Given the description of an element on the screen output the (x, y) to click on. 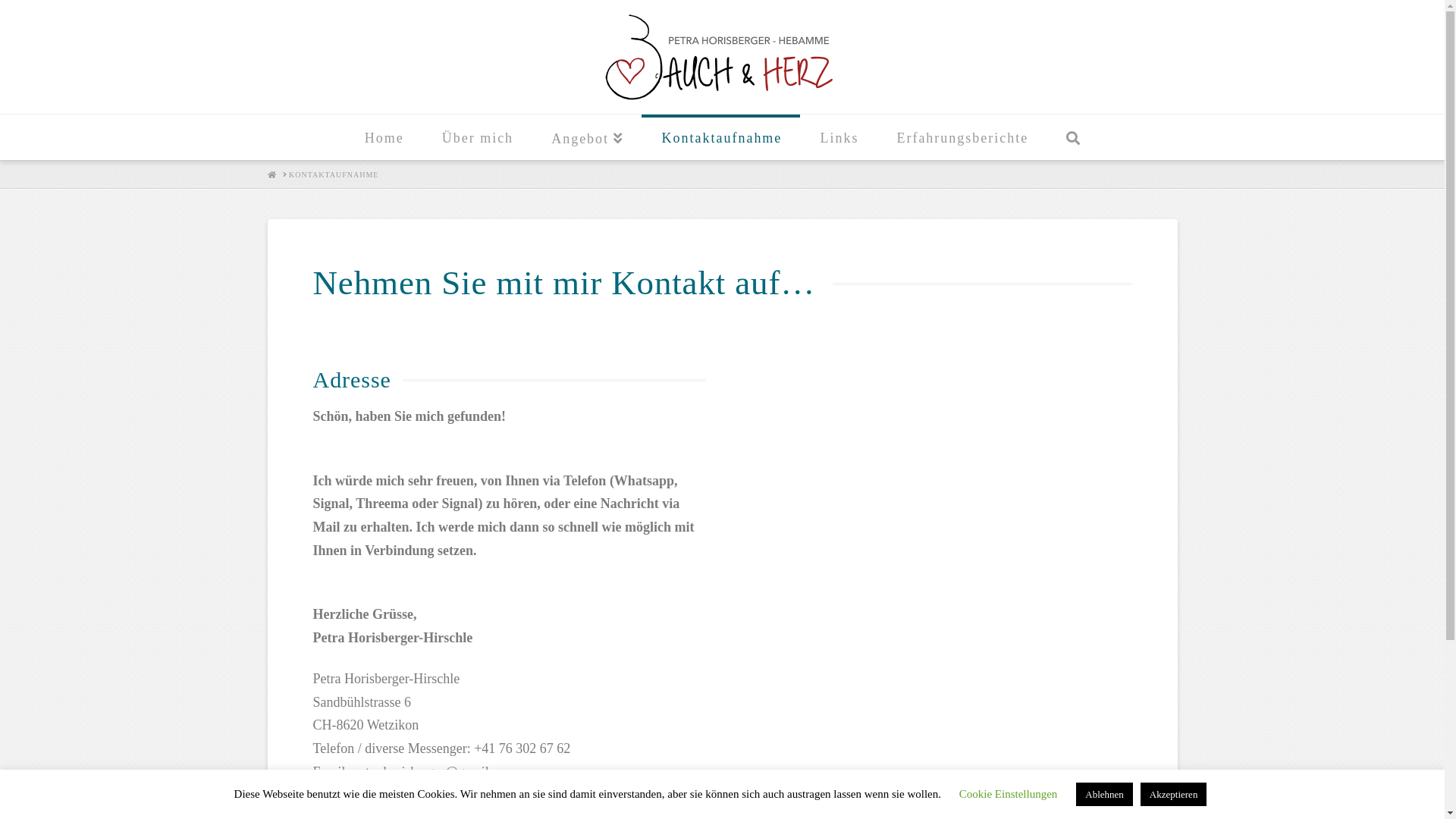
Erfahrungsberichte Element type: text (961, 137)
Angebot Element type: text (586, 137)
Kontaktaufnahme Element type: text (720, 137)
Ablehnen Element type: text (1104, 794)
Home Element type: text (383, 137)
Links Element type: text (838, 137)
HOME Element type: text (271, 173)
Akzeptieren Element type: text (1173, 794)
Cookie Einstellungen Element type: text (1008, 793)
KONTAKTAUFNAHME Element type: text (333, 174)
